Given the description of an element on the screen output the (x, y) to click on. 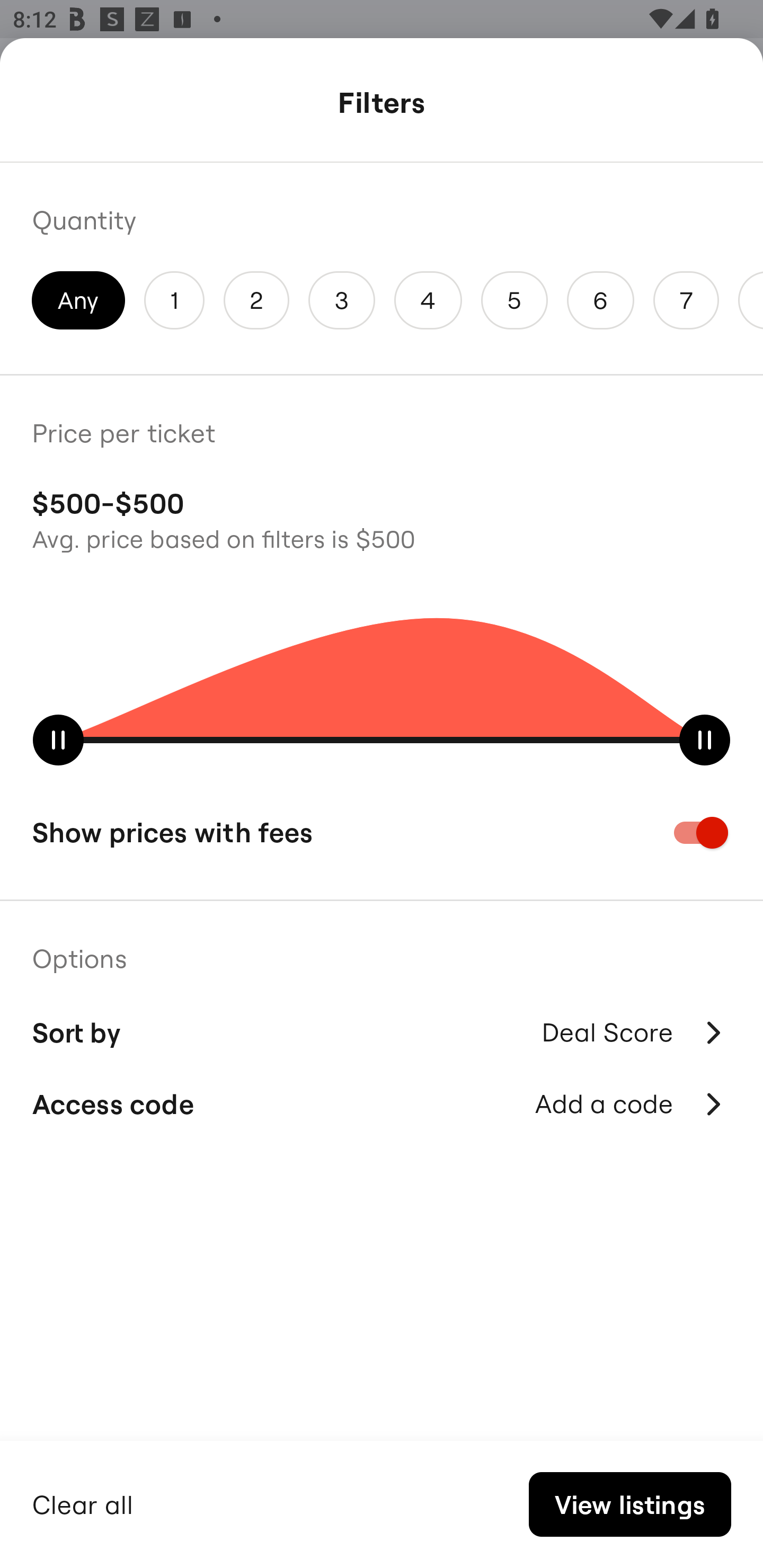
Back Hadestown Thu, Mar 7, 7 PM Info (381, 104)
Any (78, 300)
1 (173, 300)
2 (256, 300)
3 (341, 300)
4 (427, 300)
5 (514, 300)
6 (601, 300)
7 (685, 300)
$500-$500 Avg. price based on filters is $500 (381, 518)
Show prices with fees (381, 832)
Sort by Deal Score (381, 1030)
Sort by deal (633, 1091)
Access code Add a code (381, 1104)
Clear all (83, 1502)
View listings (629, 1504)
